Given the description of an element on the screen output the (x, y) to click on. 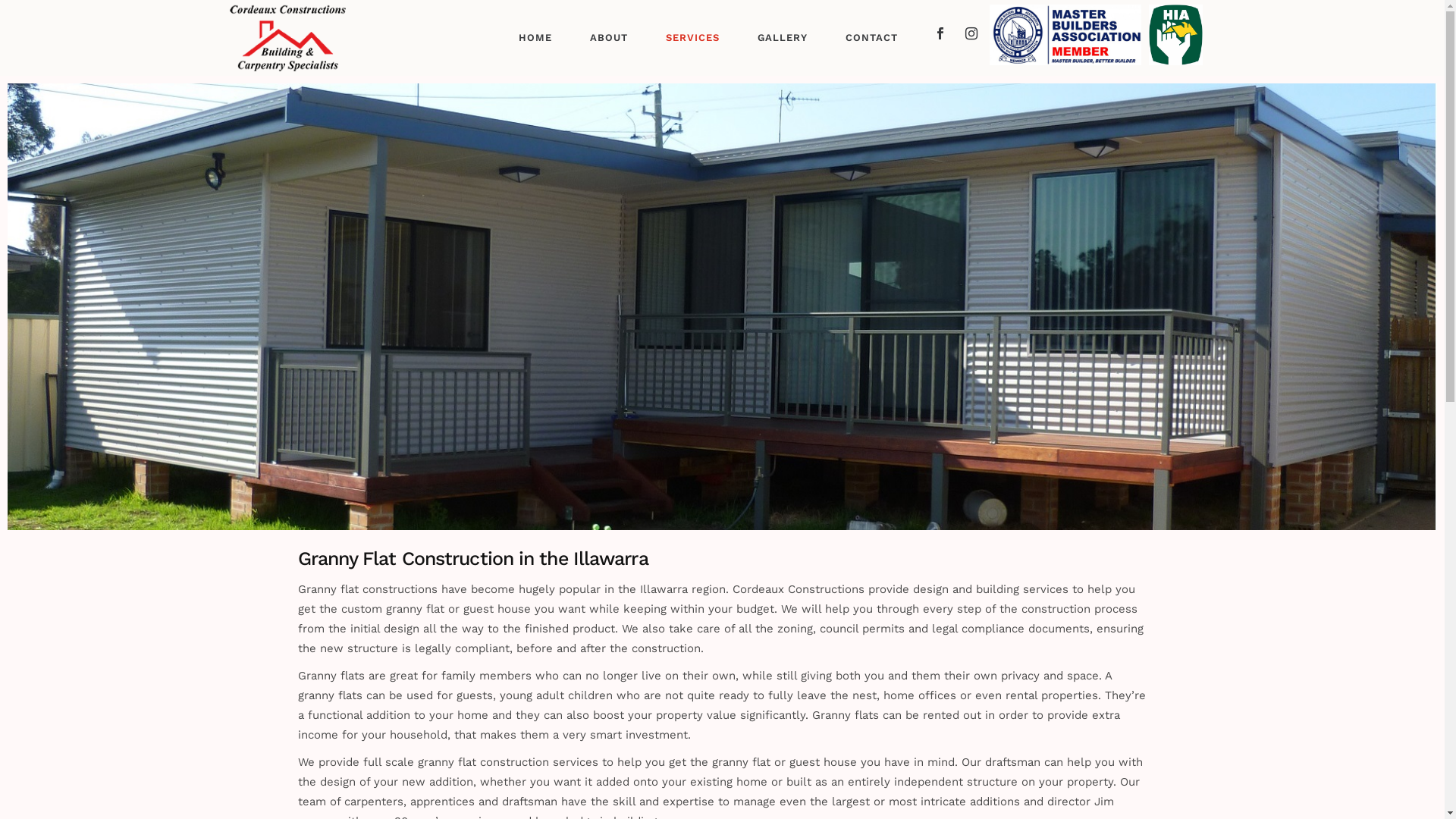
GALLERY Element type: text (782, 37)
SERVICES Element type: text (692, 37)
CONTACT Element type: text (871, 37)
ABOUT Element type: text (608, 37)
HOME Element type: text (535, 37)
